Given the description of an element on the screen output the (x, y) to click on. 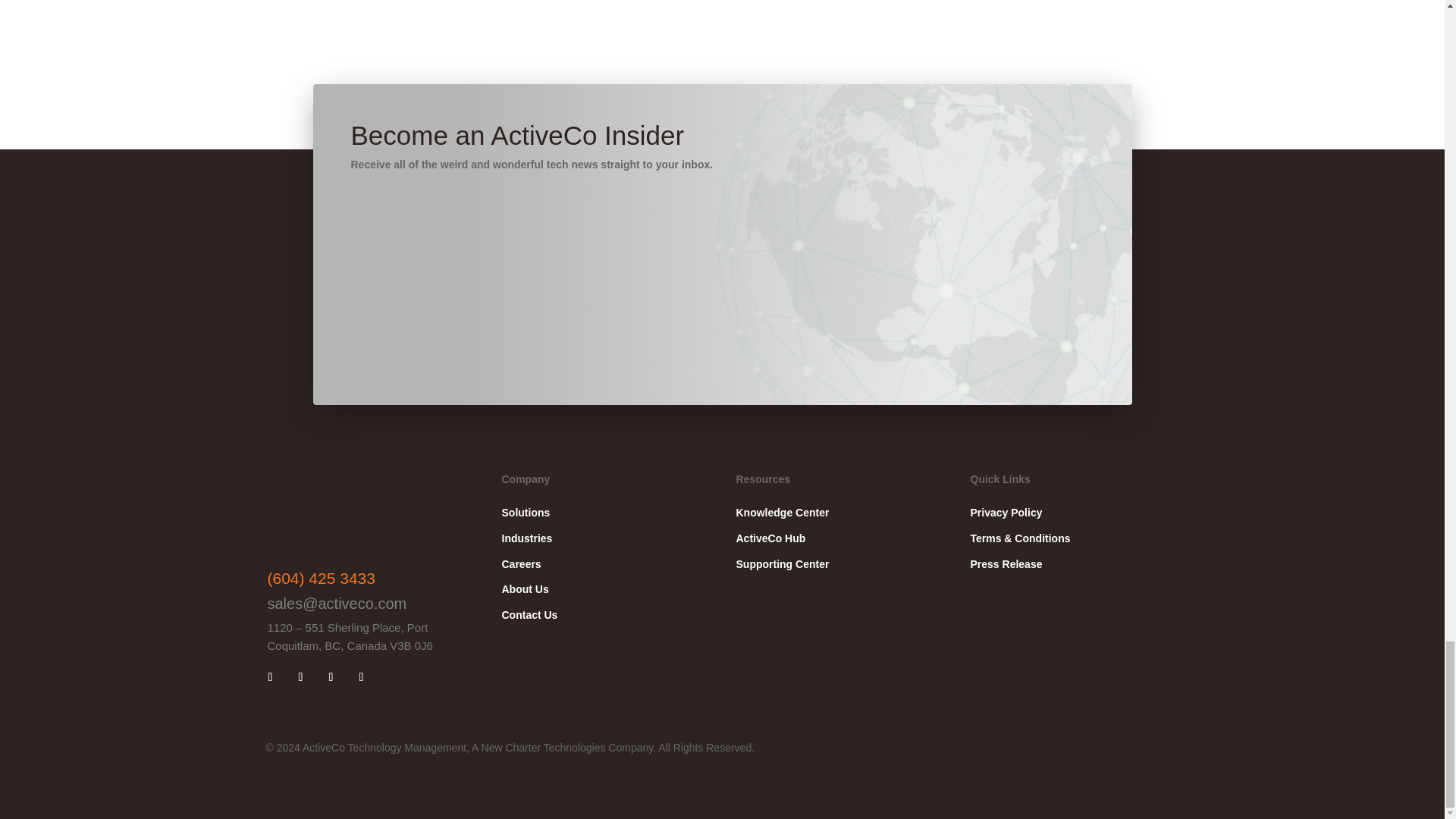
Follow on Twitter (360, 677)
Form 0 (947, 244)
Follow on Facebook (300, 677)
Activeco Logo White (343, 513)
Follow on LinkedIn (269, 677)
Follow on Instagram (330, 677)
